Given the description of an element on the screen output the (x, y) to click on. 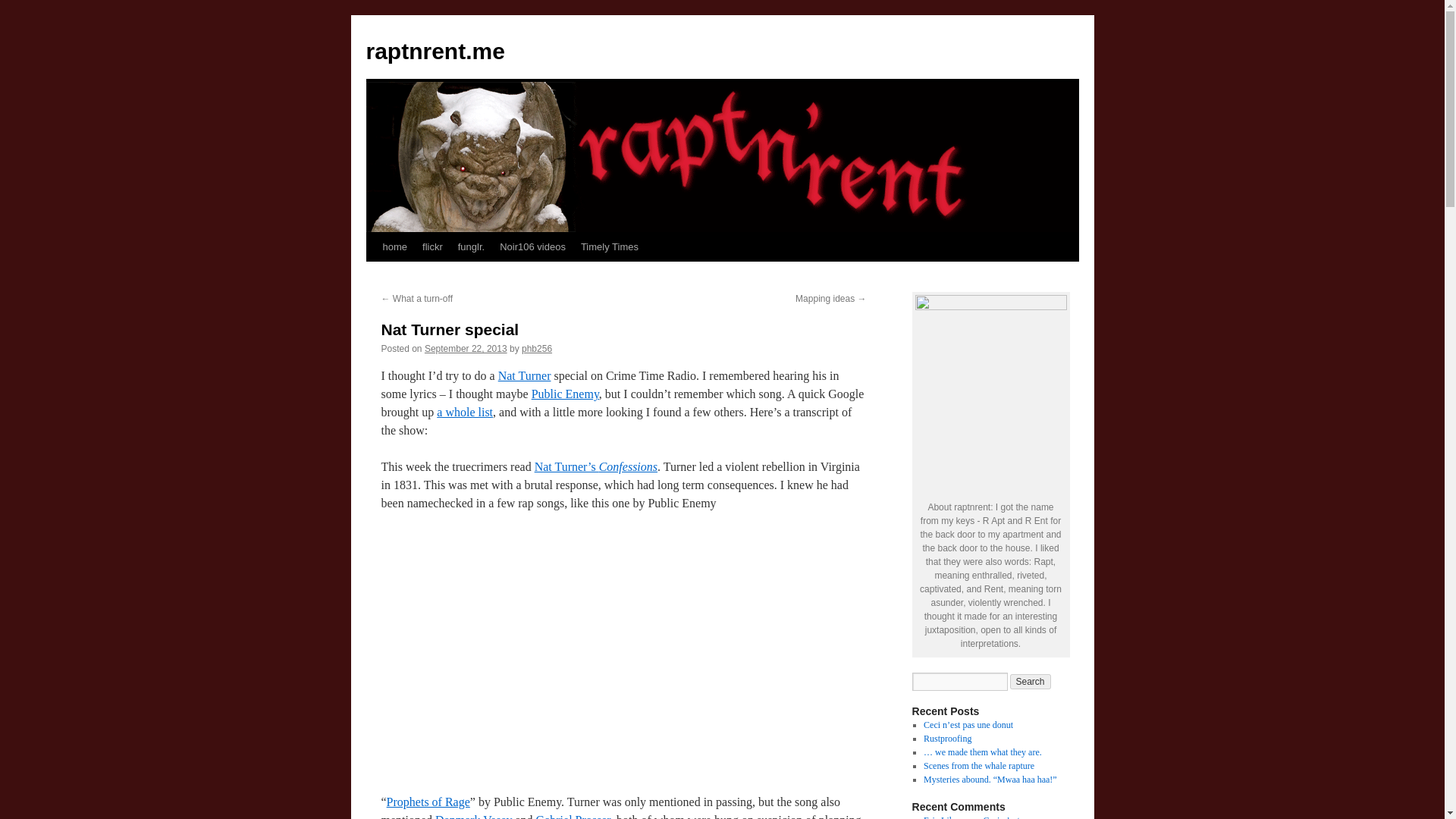
View all posts by phb256 (536, 348)
Denmark Vesey (473, 816)
Gabriel Prosser (572, 816)
phb256 (536, 348)
Noir106 videos (532, 246)
a whole list (464, 411)
Search (1030, 681)
September 22, 2013 (465, 348)
Timely Times (609, 246)
Rustproofing (947, 738)
Prophets of Rage (428, 801)
Public Enemy (564, 393)
funglr. (470, 246)
7:47 pm (465, 348)
Nat Turner (524, 375)
